Given the description of an element on the screen output the (x, y) to click on. 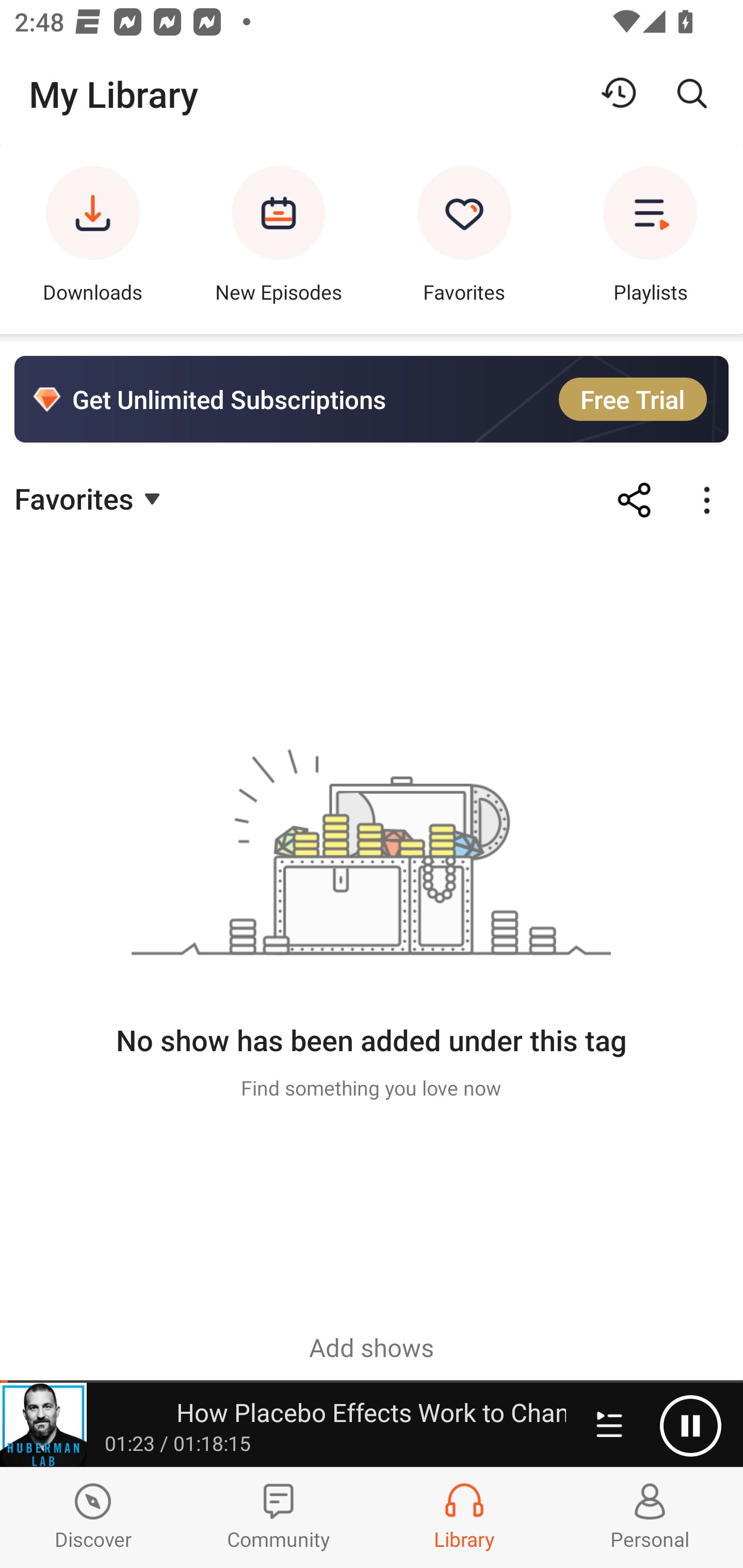
Downloads (92, 238)
New Episodes (278, 238)
Favorites (464, 238)
Playlists (650, 238)
Get Unlimited Subscriptions Free Trial (371, 398)
Free Trial (632, 398)
Favorites (90, 497)
Add shows (371, 1346)
Pause (690, 1425)
Discover (92, 1517)
Community (278, 1517)
Library (464, 1517)
Profiles and Settings Personal (650, 1517)
